Given the description of an element on the screen output the (x, y) to click on. 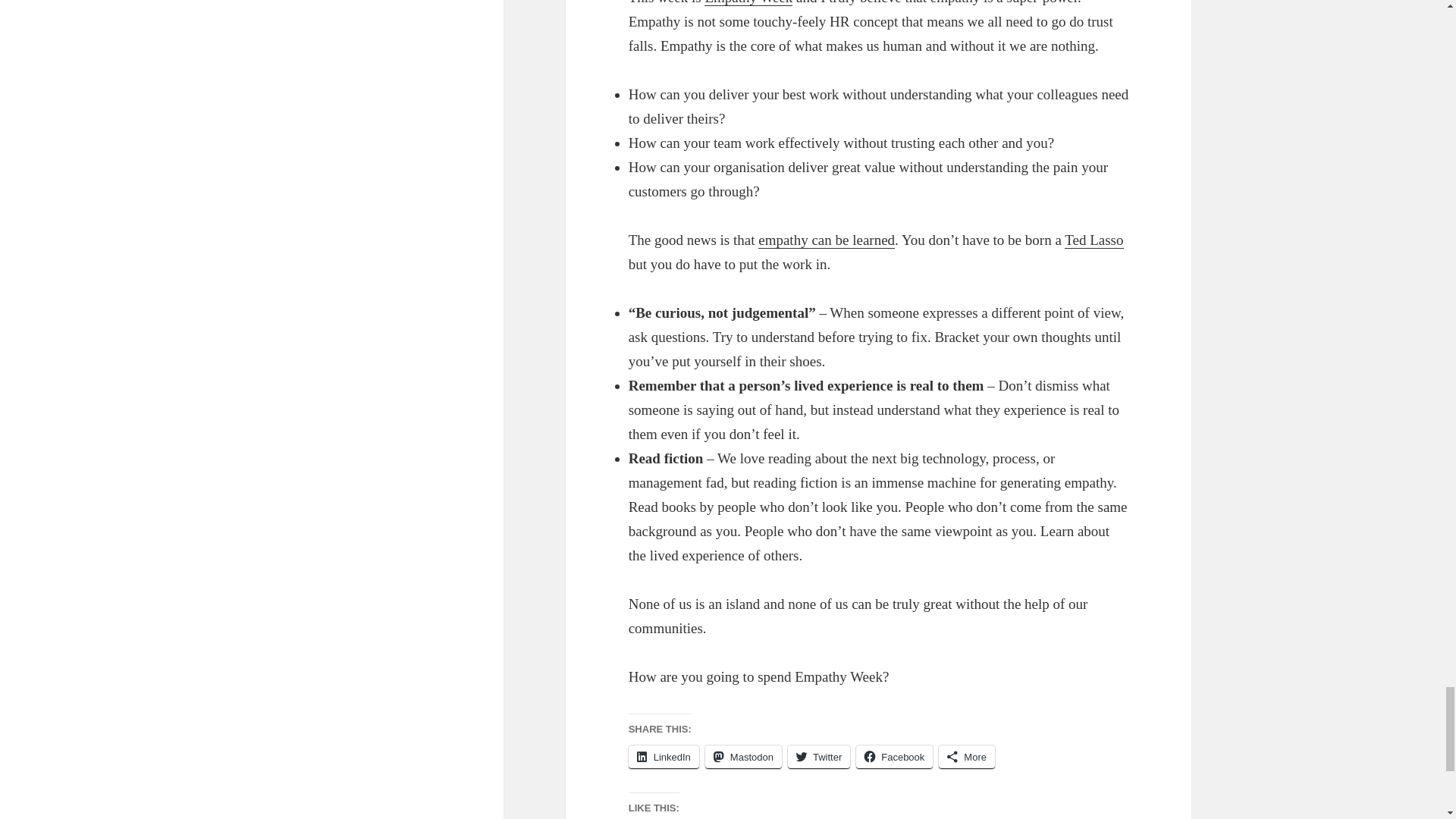
Click to share on LinkedIn (663, 757)
Click to share on Mastodon (742, 757)
Click to share on Twitter (818, 757)
